Given the description of an element on the screen output the (x, y) to click on. 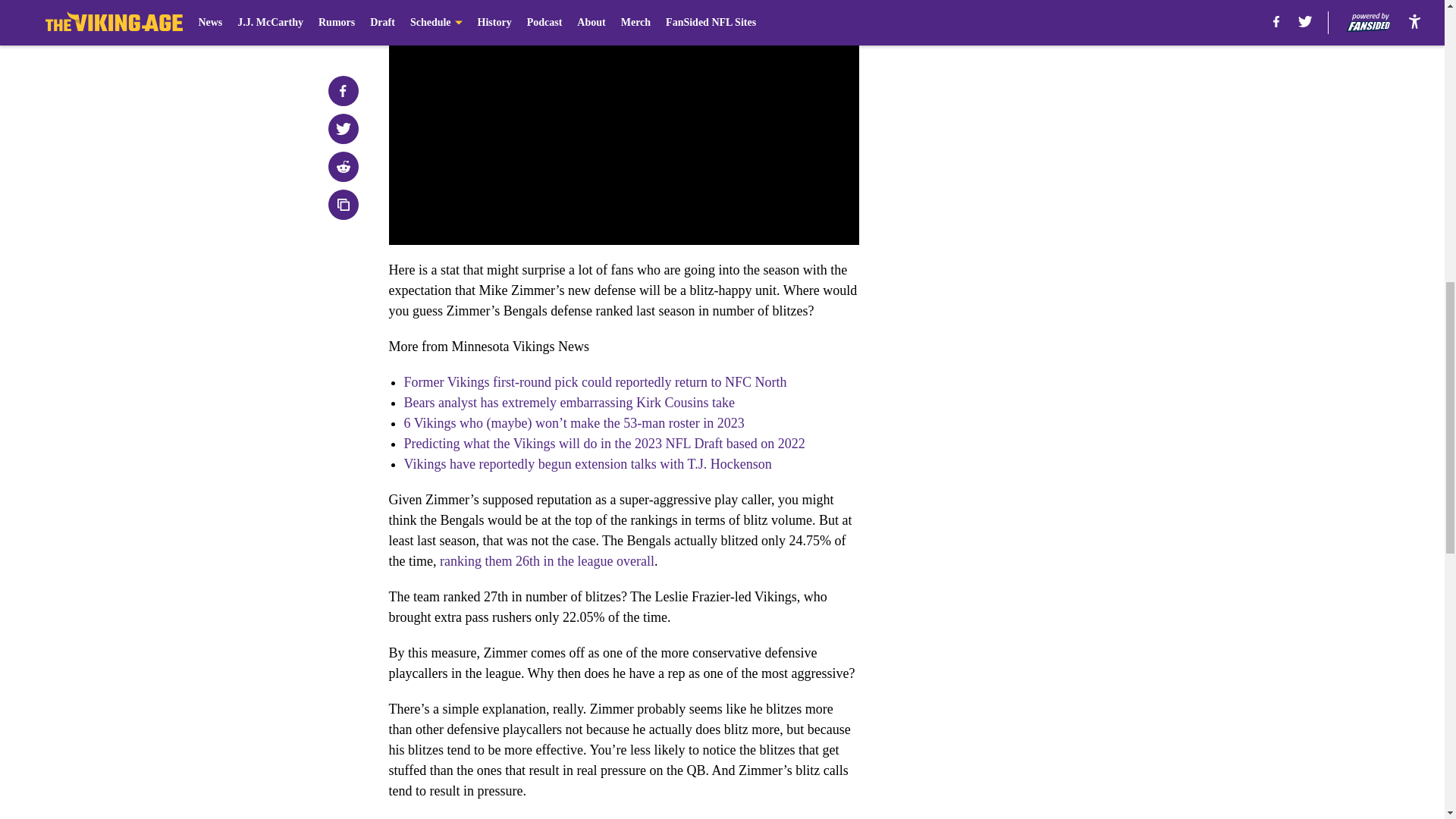
ranking them 26th in the league overall (546, 560)
Bears analyst has extremely embarrassing Kirk Cousins take (568, 402)
